Given the description of an element on the screen output the (x, y) to click on. 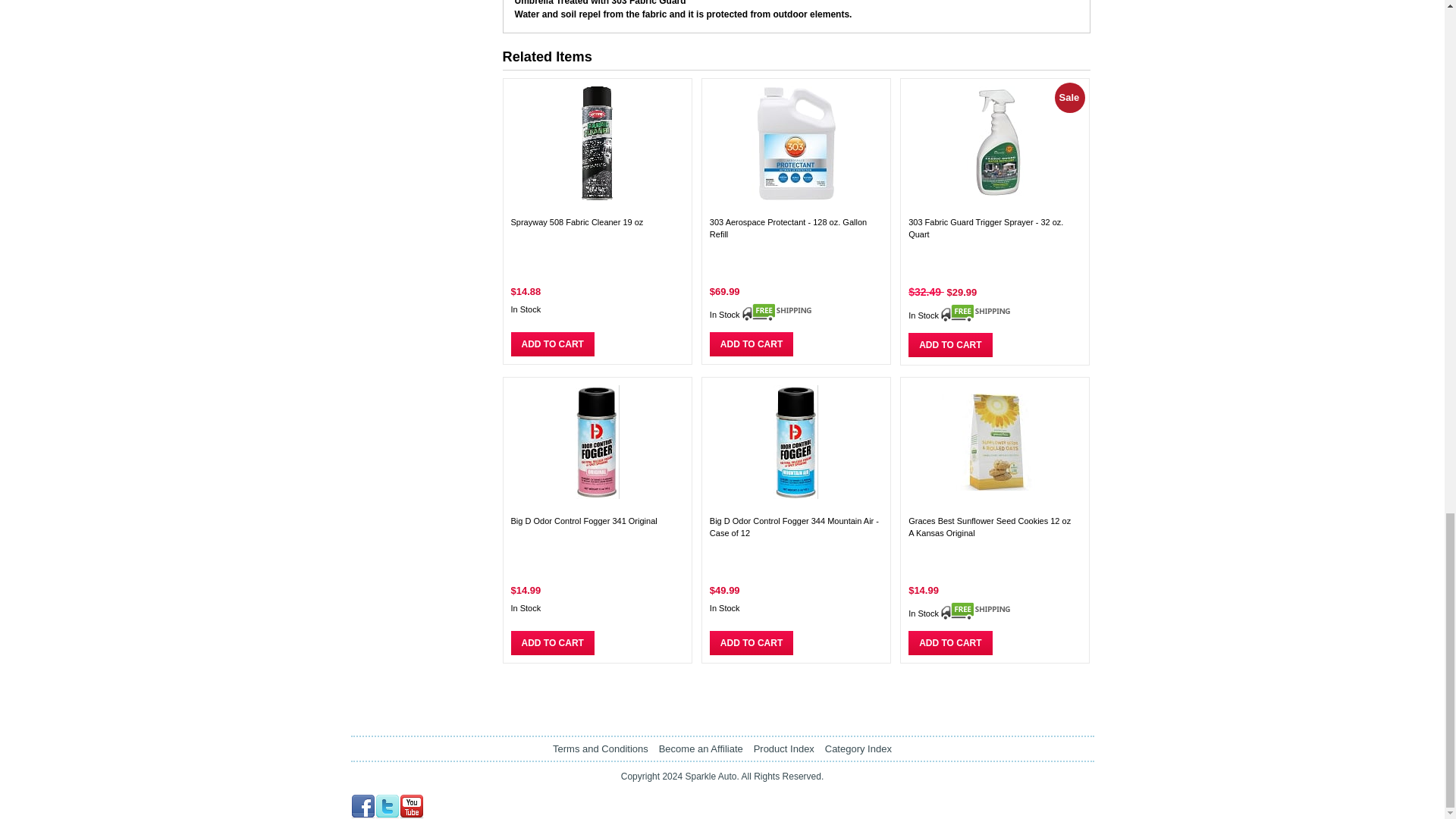
Add To Cart (552, 344)
Add To Cart (552, 642)
Add To Cart (949, 344)
Add To Cart (751, 344)
Add To Cart (949, 642)
Add To Cart (751, 642)
